Given the description of an element on the screen output the (x, y) to click on. 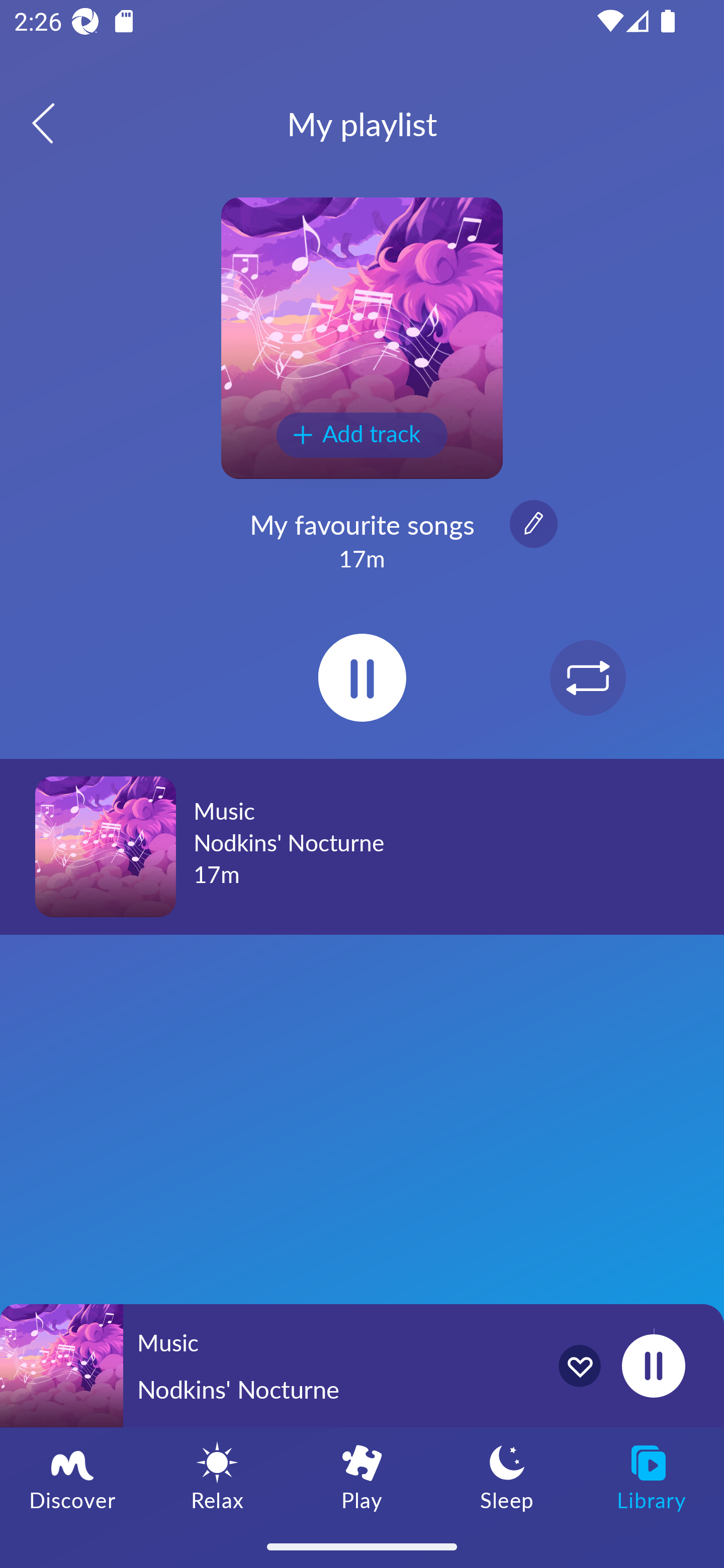
Add track (361, 434)
Music Nodkins' Nocturne 17m (362, 846)
Music Nodkins' Nocturne 0.0019550782 Pause (362, 1365)
0.0019550782 Pause (653, 1365)
Discover (72, 1475)
Relax (216, 1475)
Play (361, 1475)
Sleep (506, 1475)
